Given the description of an element on the screen output the (x, y) to click on. 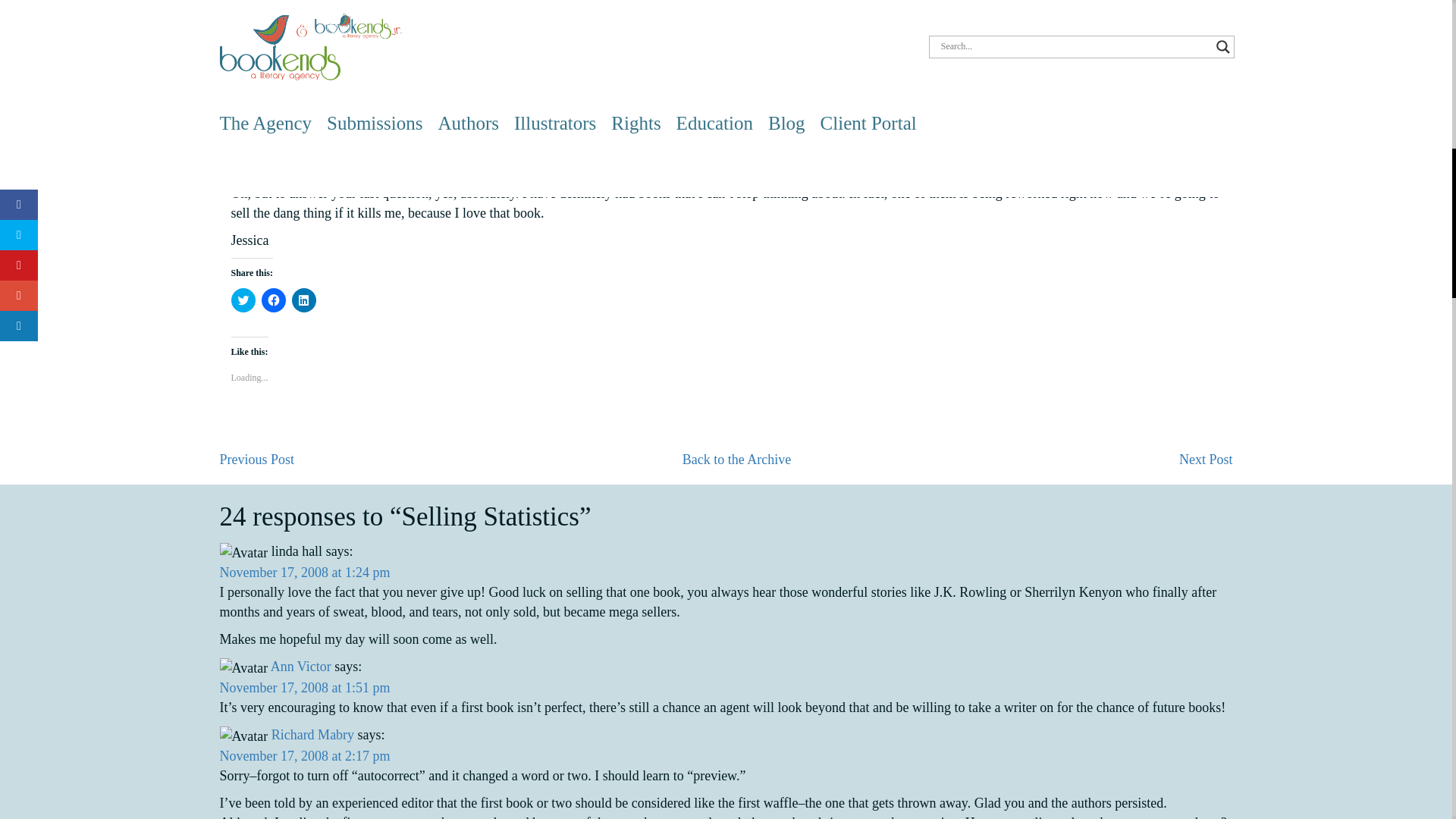
Back to the Archive (736, 459)
November 17, 2008 at 1:24 pm (304, 572)
Richard Mabry (311, 734)
Next Post (1206, 459)
Click to share on LinkedIn (303, 300)
November 17, 2008 at 1:51 pm (304, 687)
Click to share on Facebook (272, 300)
November 17, 2008 at 2:17 pm (304, 755)
Ann Victor (300, 666)
Previous Post (257, 459)
Click to share on Twitter (242, 300)
